Given the description of an element on the screen output the (x, y) to click on. 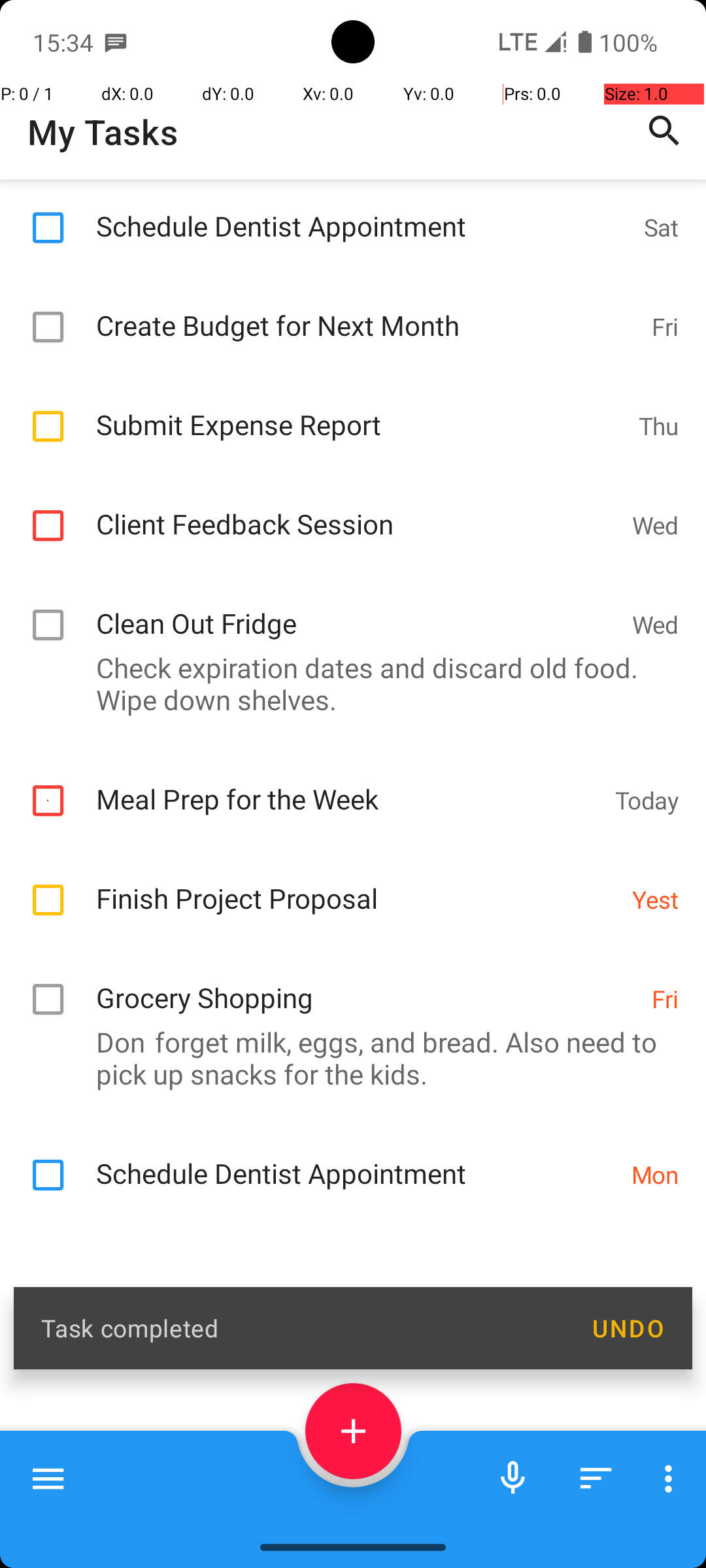
Task completed Element type: android.widget.TextView (302, 1327)
UNDO Element type: android.widget.Button (627, 1328)
Client Feedback Session Element type: android.widget.TextView (357, 509)
Check expiration dates and discard old food. Wipe down shelves. Element type: android.widget.TextView (346, 683)
